Given the description of an element on the screen output the (x, y) to click on. 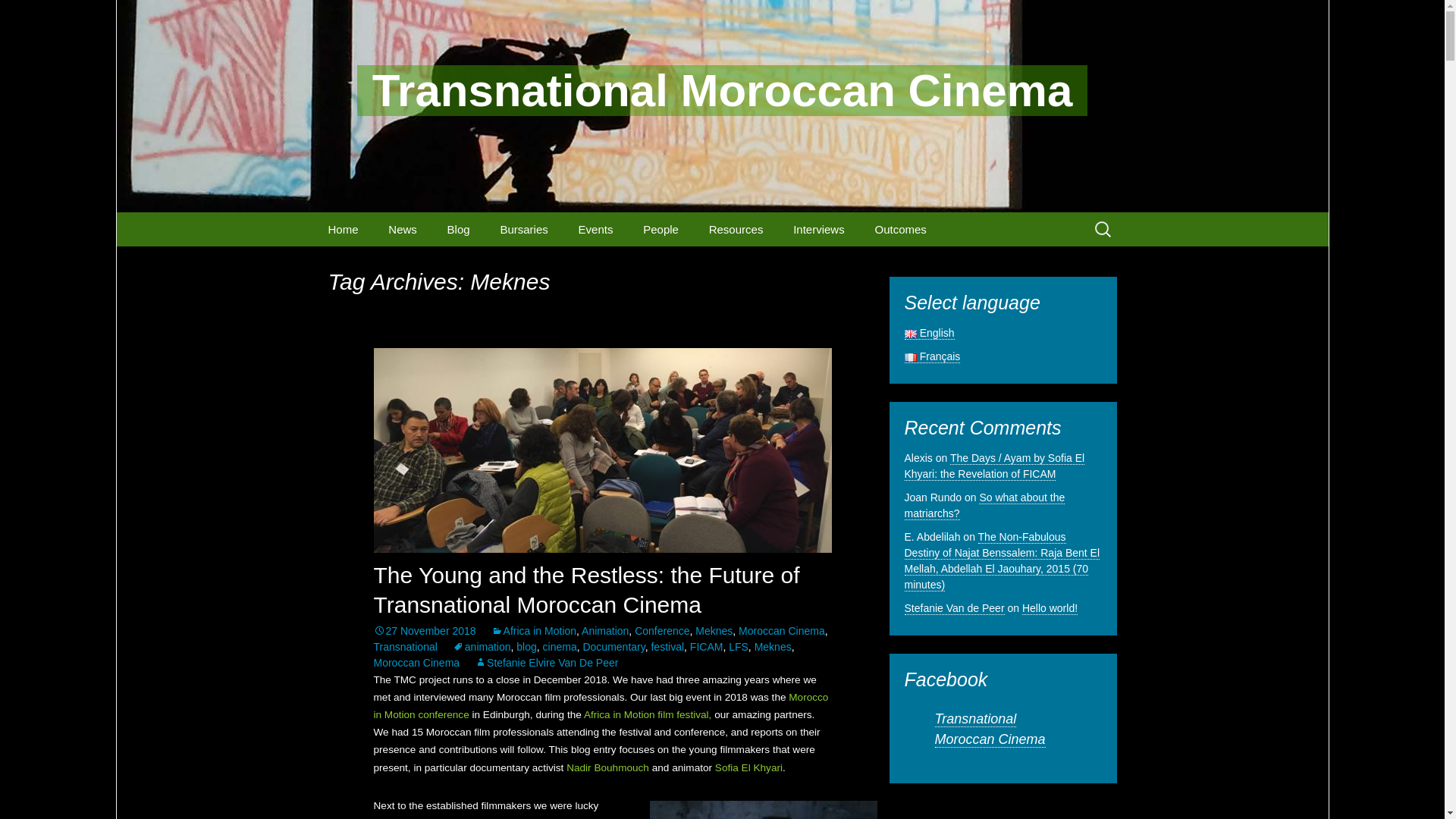
Research Group Publications: BOOKS (777, 268)
People (660, 229)
Home (342, 229)
Transnational Moroccan Cinema (721, 90)
Bursaries (523, 229)
Frames Cinema Journal (456, 263)
News (402, 229)
Events (595, 229)
Interview with Nour-Eddine Lakhmari (860, 268)
Transnational Moroccan Cinema (721, 90)
Interviews (818, 229)
Habiba Boumlik and Lucy McNair: Looking for Amazigh Cinema (942, 274)
